Given the description of an element on the screen output the (x, y) to click on. 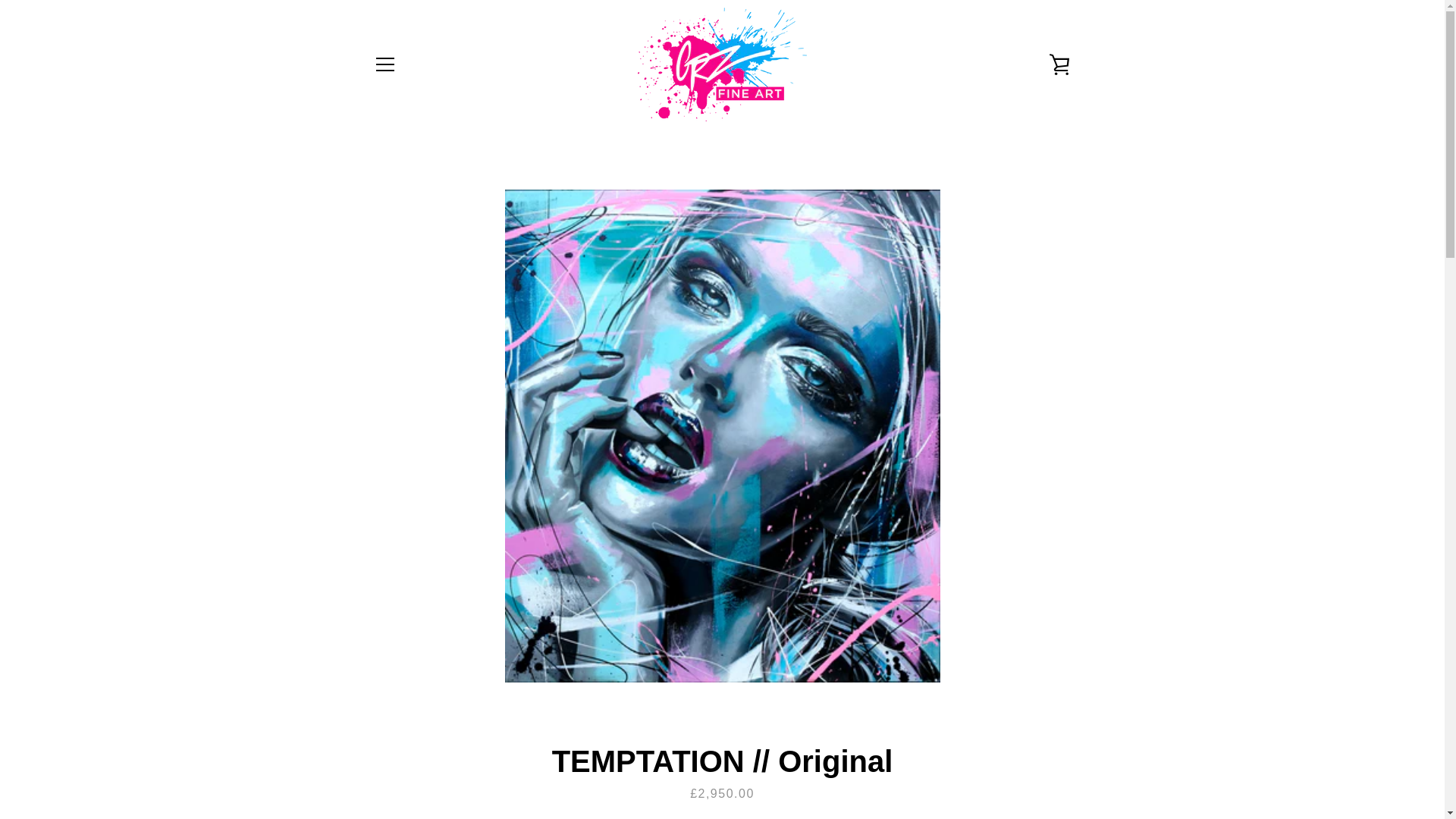
EXPAND NAVIGATION (384, 64)
VIEW CART (1059, 64)
